Given the description of an element on the screen output the (x, y) to click on. 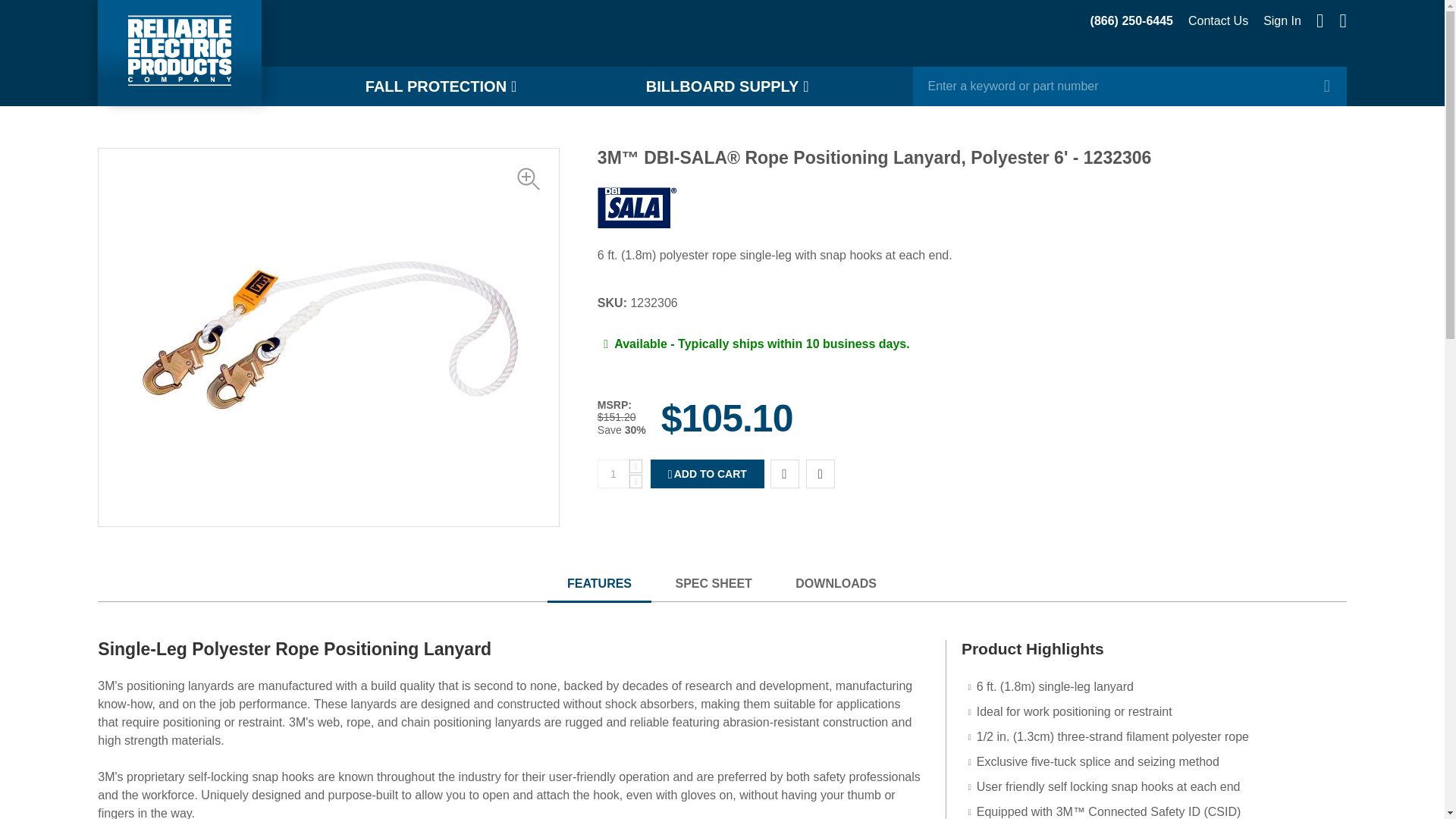
FALL PROTECTION (444, 86)
1 (612, 473)
Reliable Electric (179, 53)
Fall Protection (444, 86)
Sign In (1282, 21)
Contact us (1217, 21)
Contact Us (1217, 21)
